Given the description of an element on the screen output the (x, y) to click on. 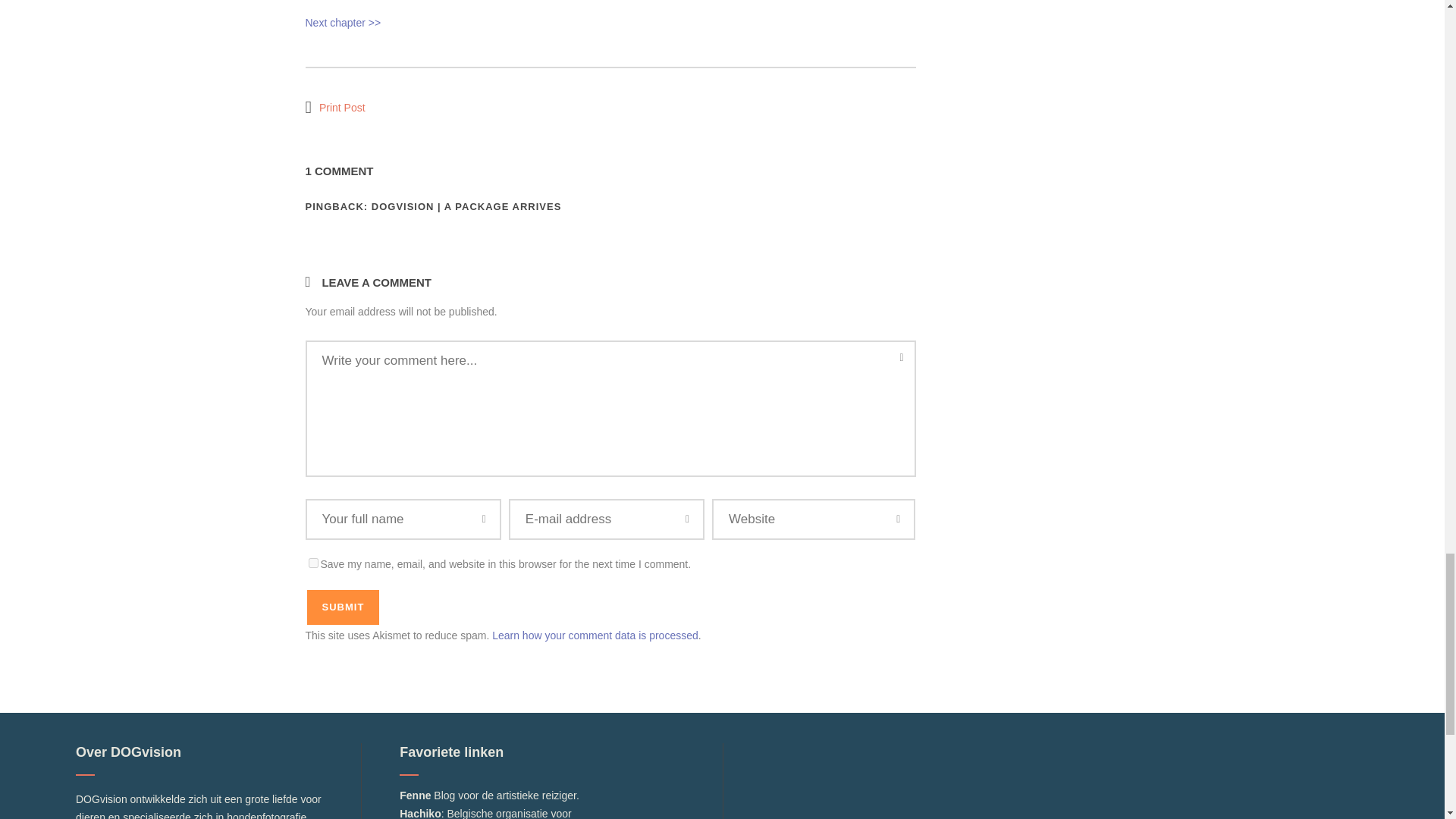
Submit (342, 607)
Print Post (334, 107)
Submit (342, 607)
Learn how your comment data is processed (595, 635)
yes (312, 562)
